Given the description of an element on the screen output the (x, y) to click on. 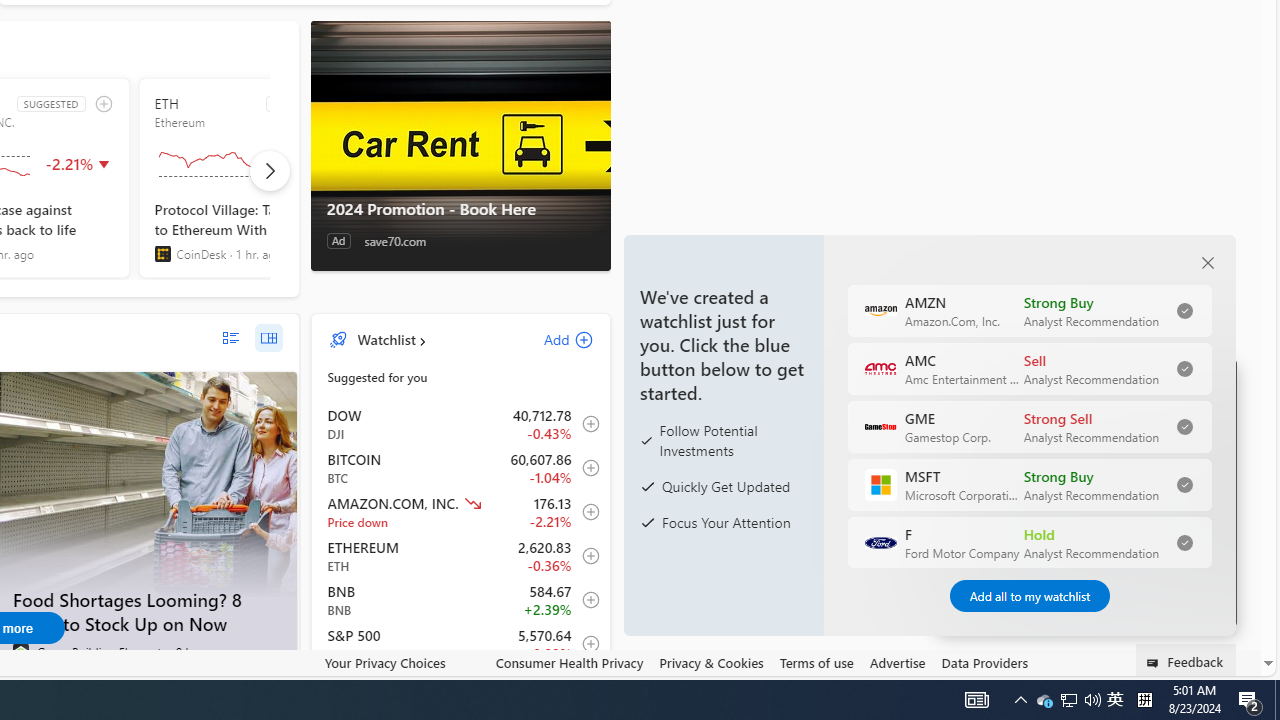
Feedback (1186, 659)
Privacy & Cookies (711, 663)
2024 Promotion - Book Here (460, 209)
INX S&P 500 decrease 5,570.64 -50.21 -0.89% item5 (461, 644)
Data Providers (983, 663)
Add to Watchlist (585, 643)
Consumer Health Privacy (569, 662)
2024 Promotion - Book Here (459, 145)
list layout (230, 338)
Your Privacy Choices (401, 662)
See more (1055, 664)
Class: oneFooter_seeMore-DS-EntryPoint1-1 (1055, 663)
Consumer Health Privacy (569, 663)
